Given the description of an element on the screen output the (x, y) to click on. 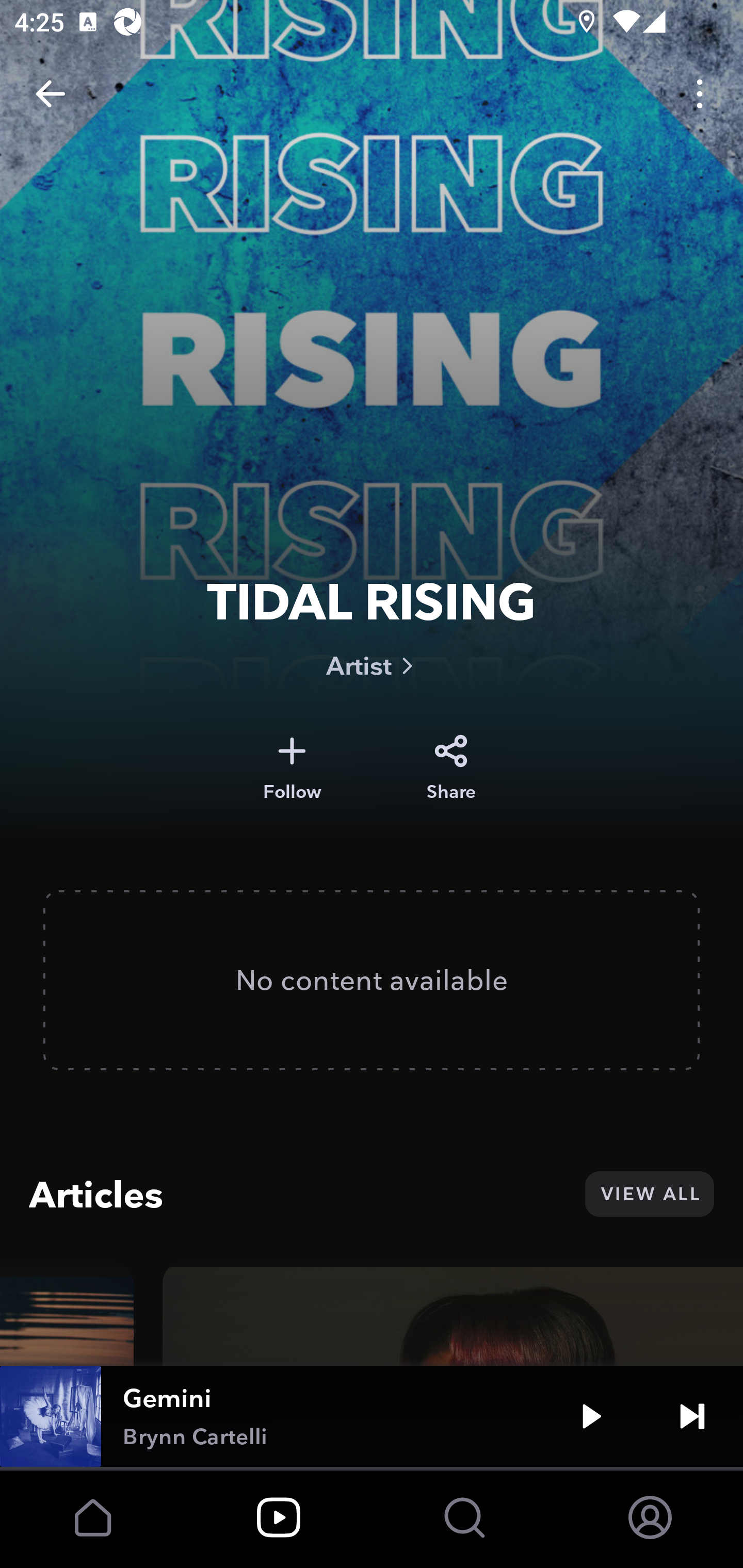
Options (699, 93)
Artist (371, 665)
Follow (291, 767)
Share (450, 767)
VIEW ALL (649, 1193)
Gemini Brynn Cartelli Play (371, 1416)
Play (590, 1416)
